Given the description of an element on the screen output the (x, y) to click on. 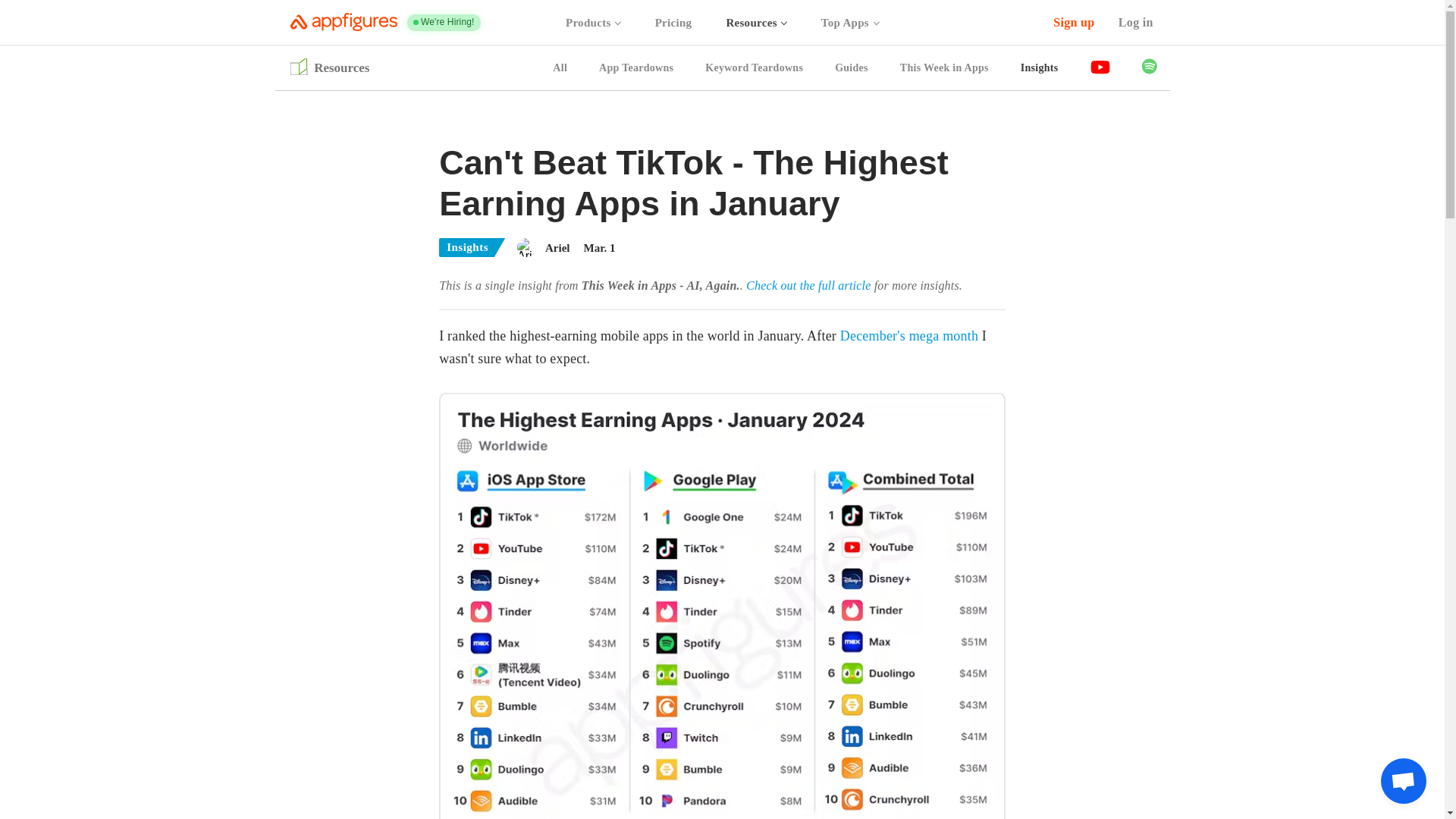
Guides (850, 67)
Pricing (673, 22)
All (560, 67)
Log in (1135, 22)
December's mega month (909, 335)
Sign up (1074, 22)
Insights (1039, 67)
We're Hiring! (443, 22)
Top Apps (849, 22)
App Teardowns (635, 67)
Check out the full article (807, 285)
Insights (471, 247)
Keyword Teardowns (753, 67)
This Week in Apps (943, 67)
Resources (756, 22)
